Given the description of an element on the screen output the (x, y) to click on. 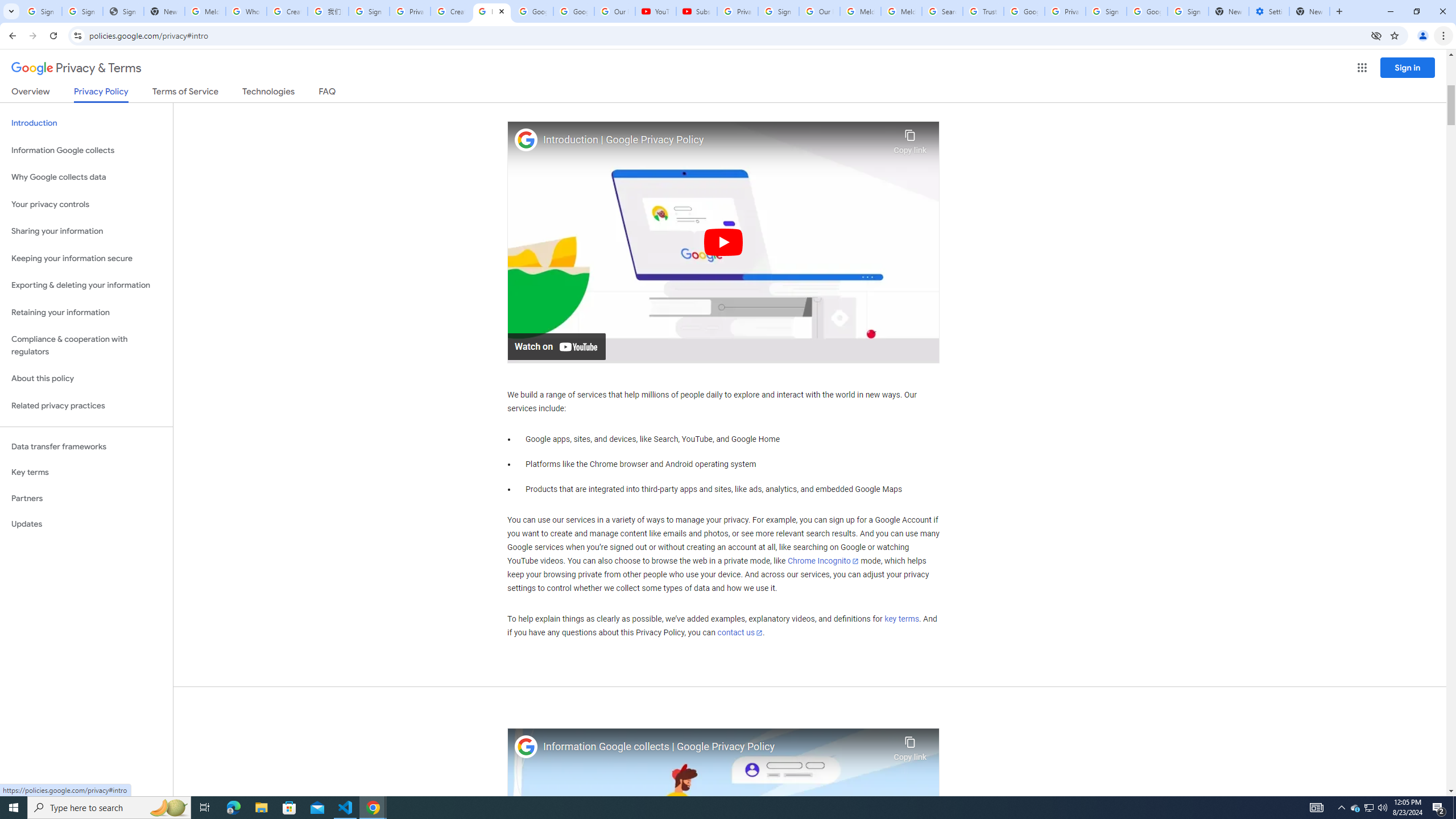
Sign in - Google Accounts (1187, 11)
key terms (900, 619)
Partners (86, 497)
Your privacy controls (86, 204)
Play (723, 241)
Sign in - Google Accounts (81, 11)
Sign In - USA TODAY (122, 11)
Sign in - Google Accounts (777, 11)
Data transfer frameworks (86, 446)
Copy link (909, 745)
